Given the description of an element on the screen output the (x, y) to click on. 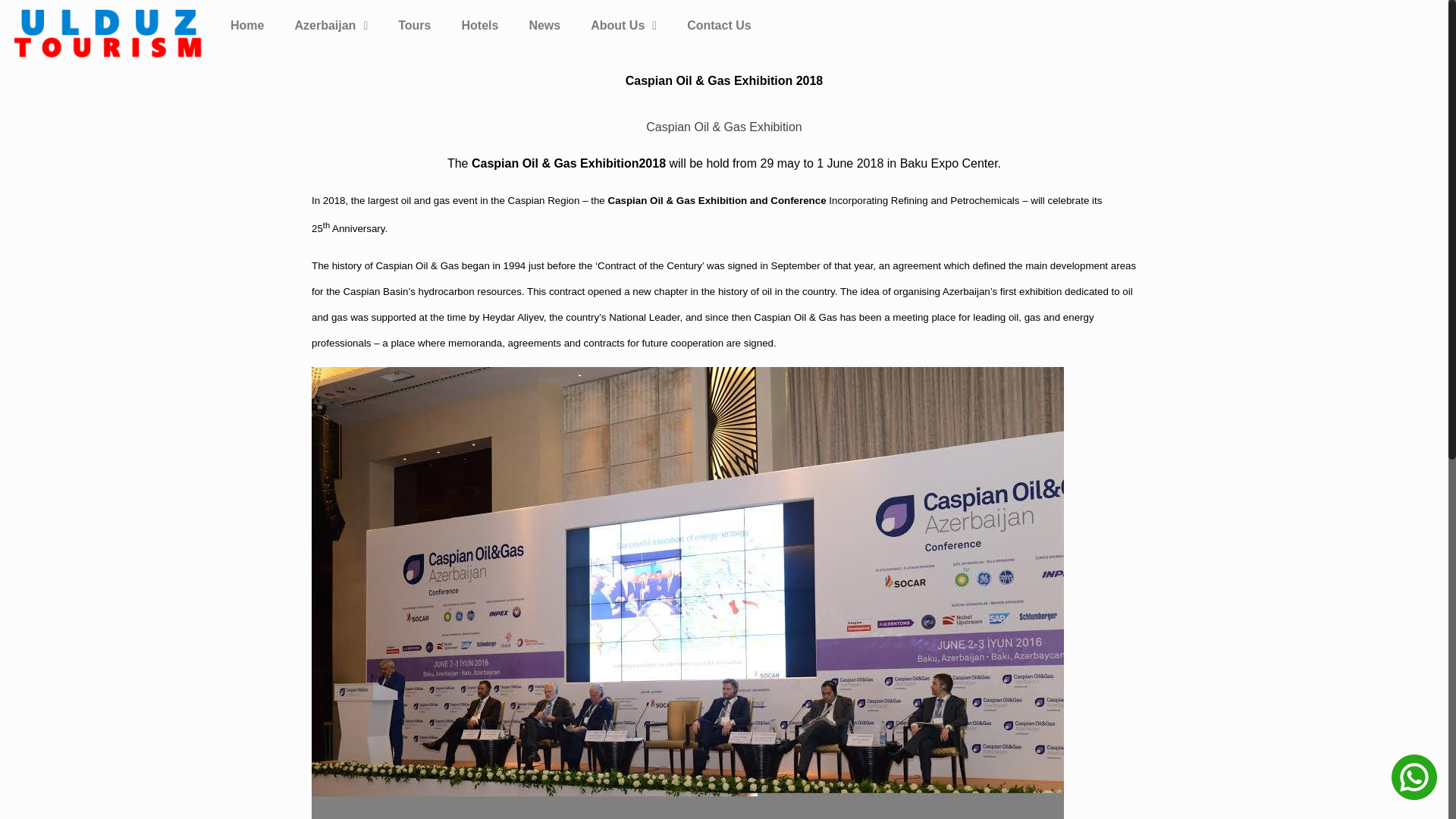
Tours (413, 25)
Home (247, 25)
About Us (623, 25)
Hotels (479, 25)
Azerbaijan (330, 25)
Contact Us (718, 25)
News (544, 25)
